Given the description of an element on the screen output the (x, y) to click on. 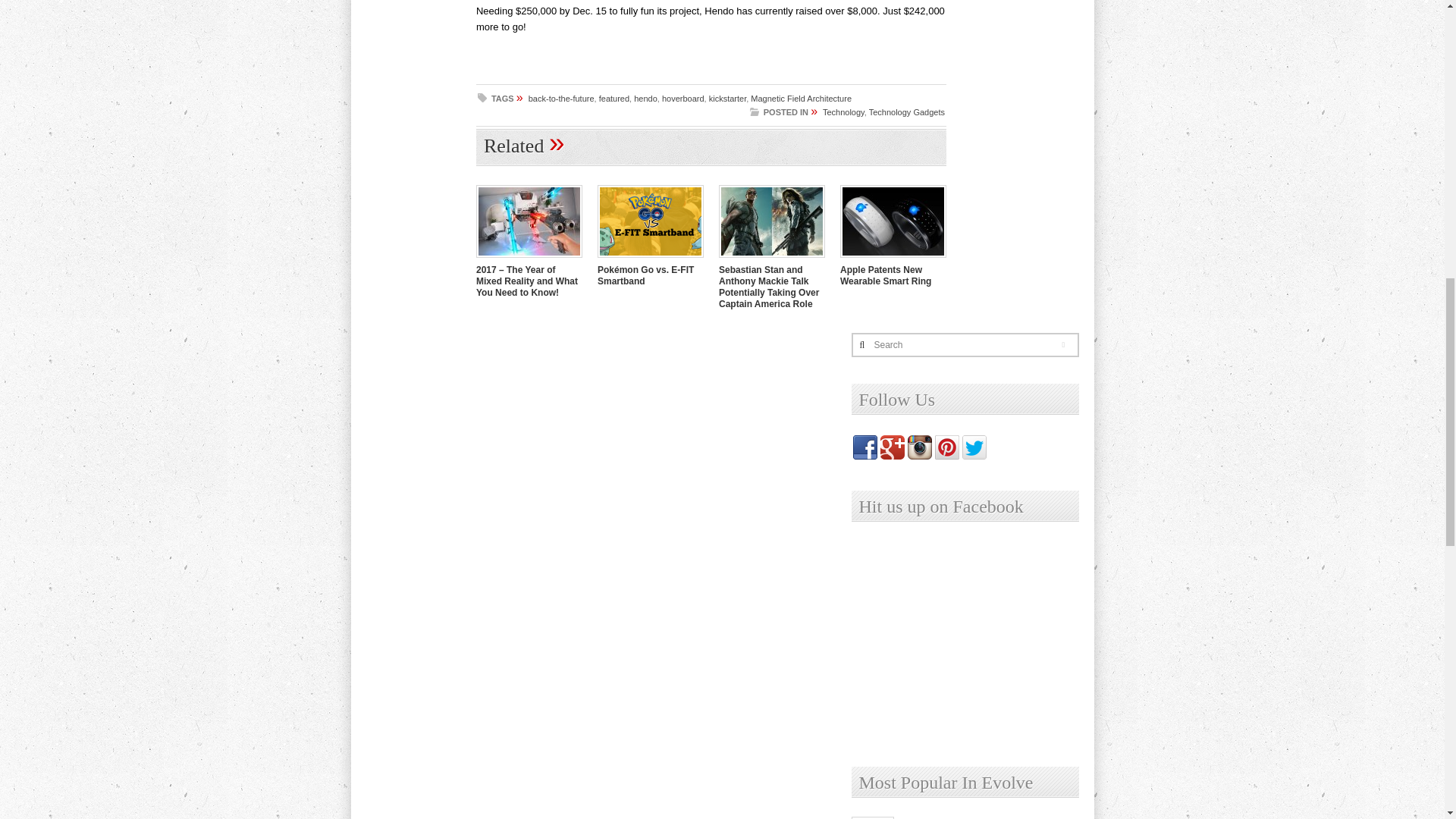
Apple Patents New Wearable Smart Ring (893, 258)
Apple Patents New Wearable Smart Ring (885, 275)
Pin It (498, 105)
clear search (1067, 346)
